Given the description of an element on the screen output the (x, y) to click on. 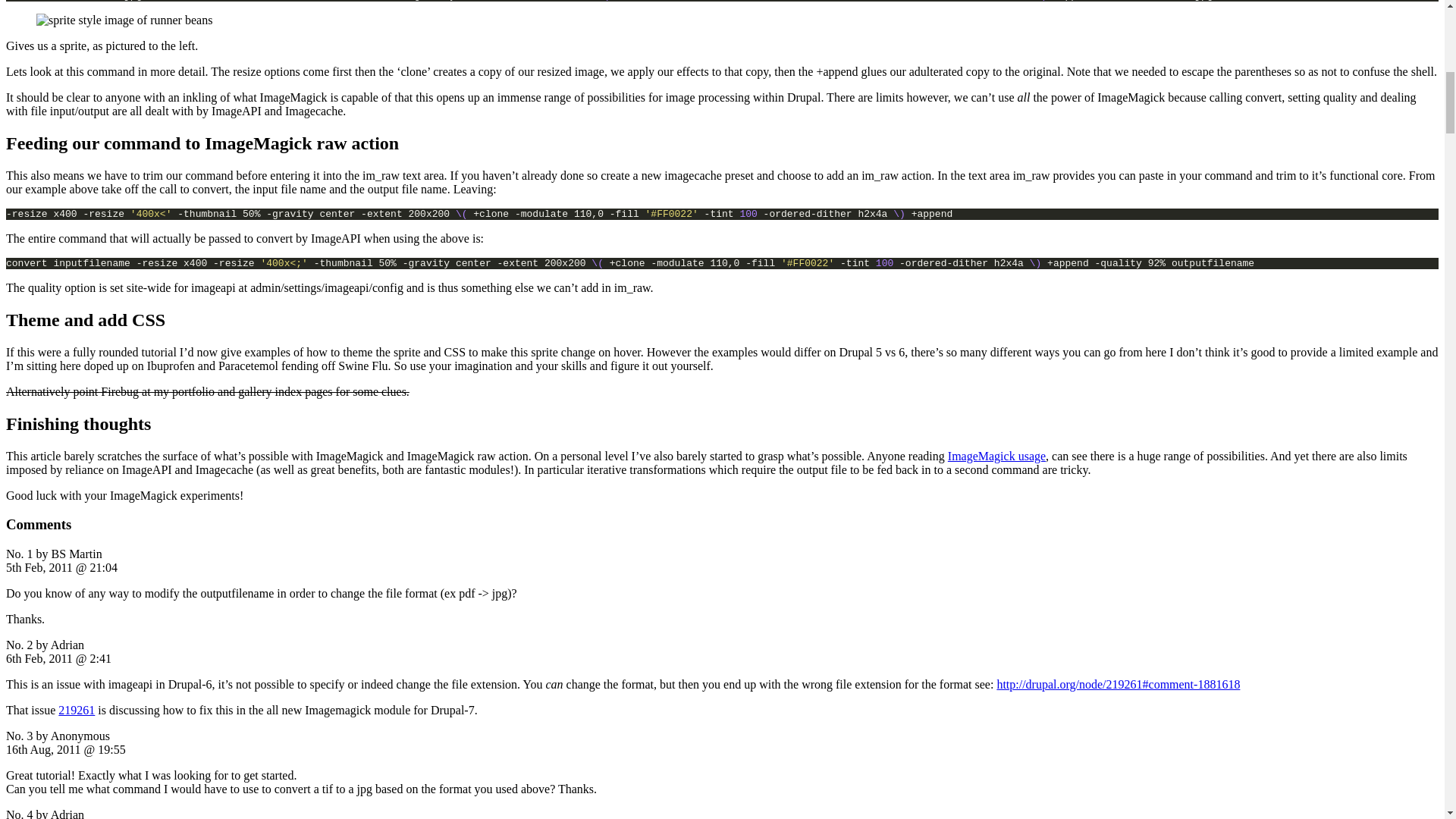
ImageMagick usage (996, 455)
219261 (76, 709)
